Given the description of an element on the screen output the (x, y) to click on. 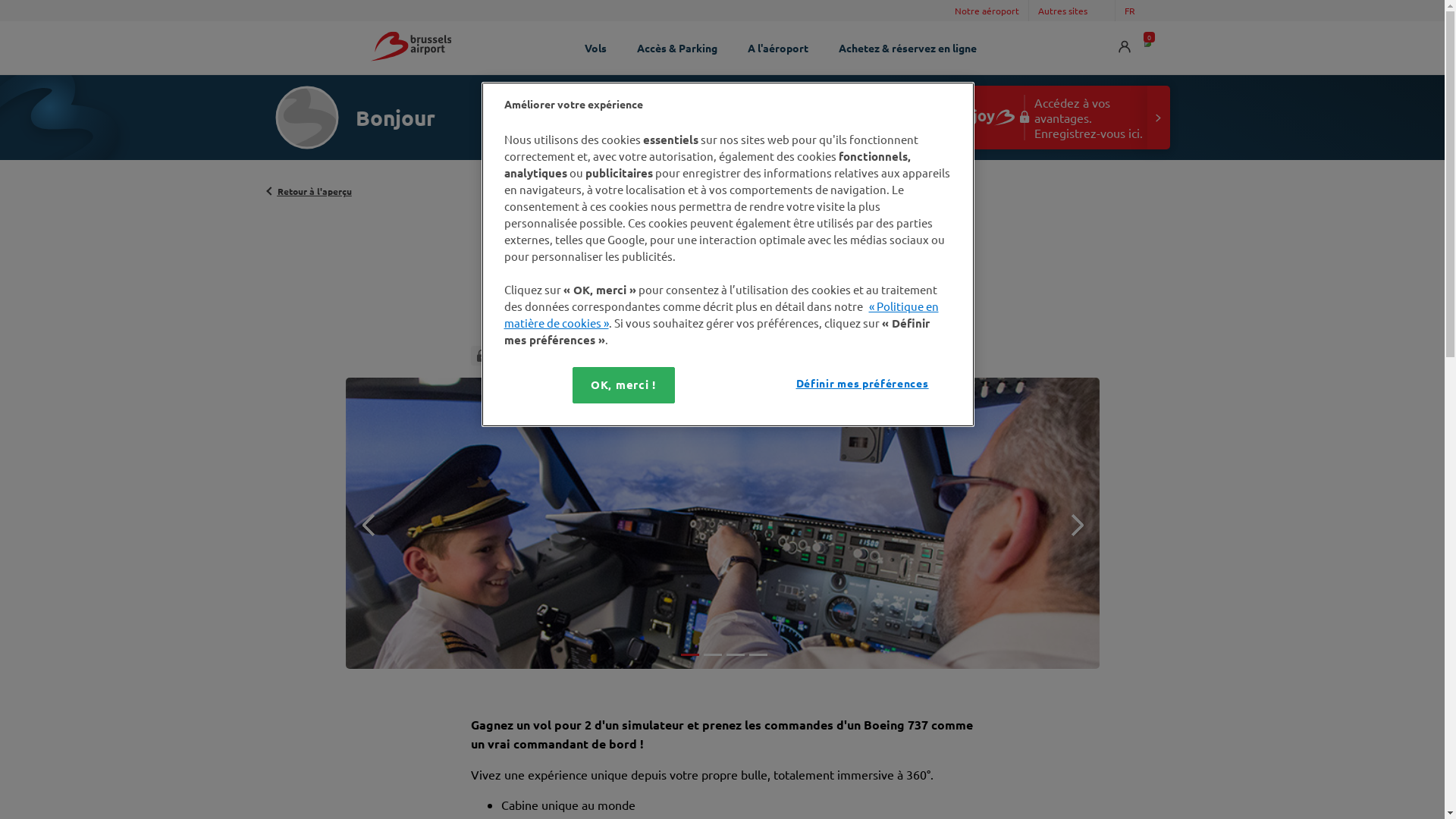
Autres sites Element type: text (1071, 10)
2 Element type: text (710, 660)
3 Element type: text (733, 660)
FR Element type: text (1138, 10)
OK, merci ! Element type: text (622, 385)
Vols Element type: text (595, 47)
Previous Element type: text (371, 524)
1 Element type: text (688, 660)
4 Element type: text (756, 660)
Next Element type: text (1071, 524)
